Given the description of an element on the screen output the (x, y) to click on. 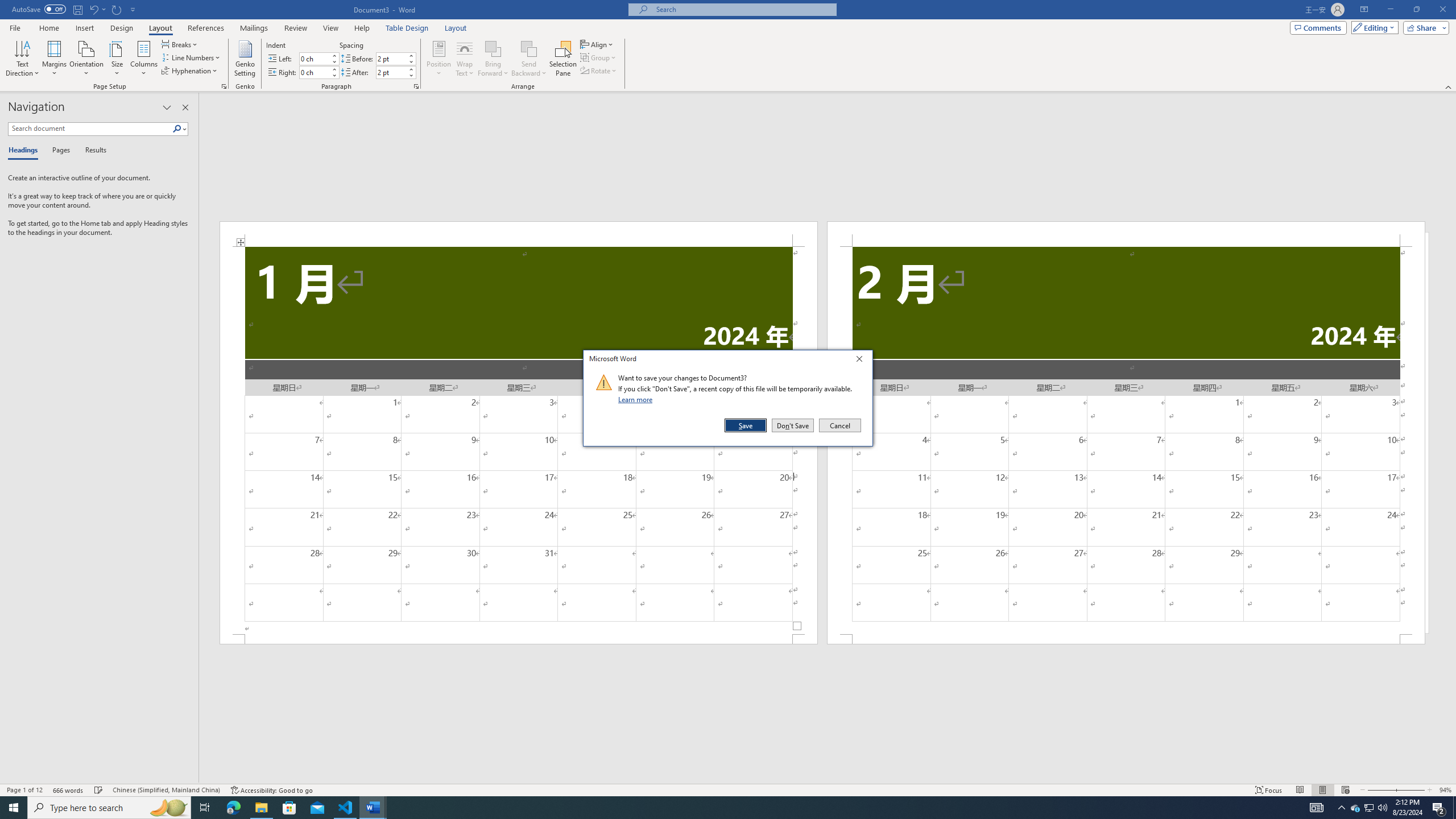
Genko Setting... (244, 58)
Size (116, 58)
